Given the description of an element on the screen output the (x, y) to click on. 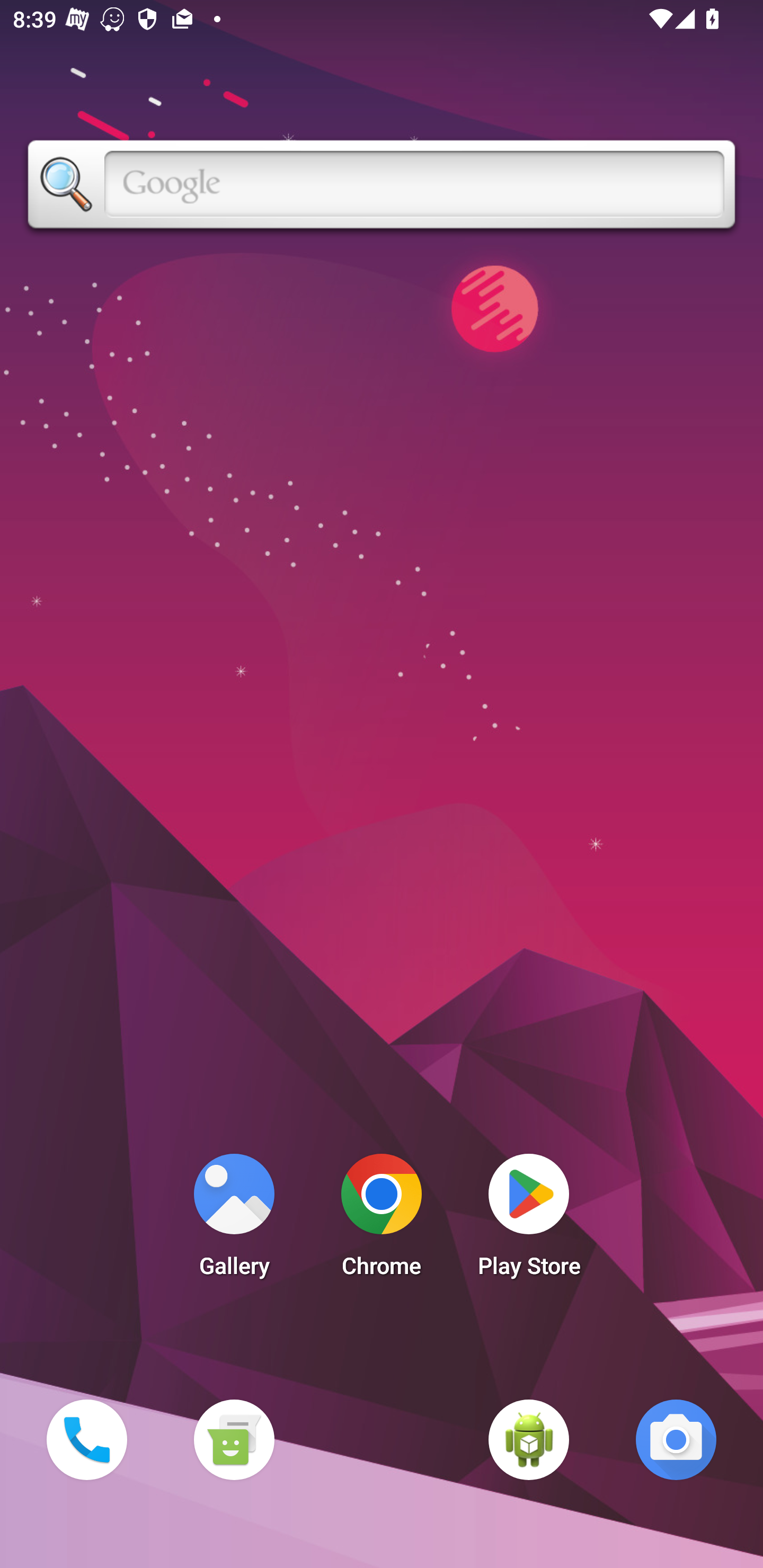
Gallery (233, 1220)
Chrome (381, 1220)
Play Store (528, 1220)
Phone (86, 1439)
Messaging (233, 1439)
WebView Browser Tester (528, 1439)
Camera (676, 1439)
